Given the description of an element on the screen output the (x, y) to click on. 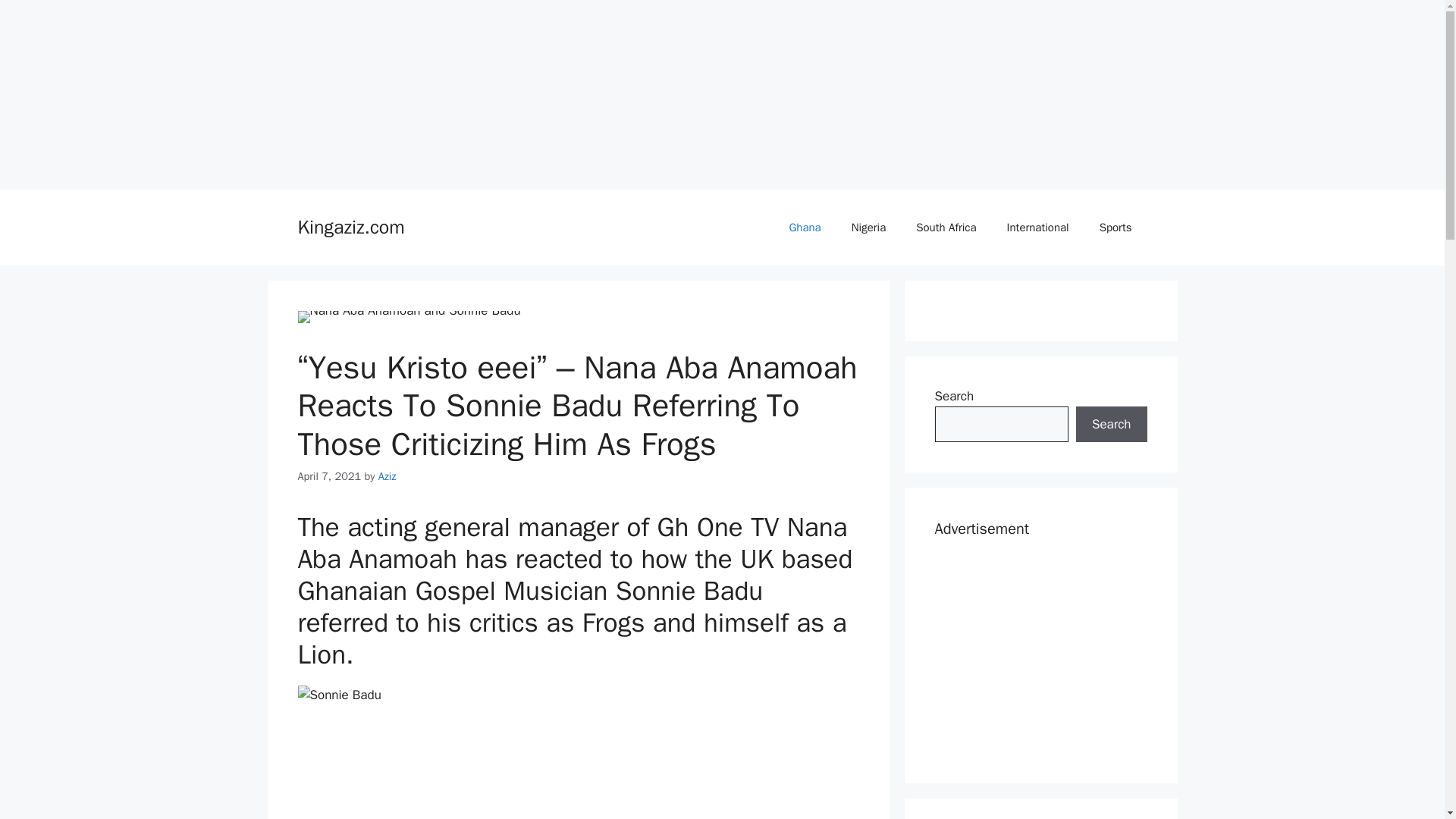
Search (1111, 424)
Nigeria (868, 227)
Aziz (387, 476)
Ghana (804, 227)
Sports (1115, 227)
South Africa (946, 227)
View all posts by Aziz (387, 476)
Kingaziz.com (350, 227)
International (1037, 227)
